Given the description of an element on the screen output the (x, y) to click on. 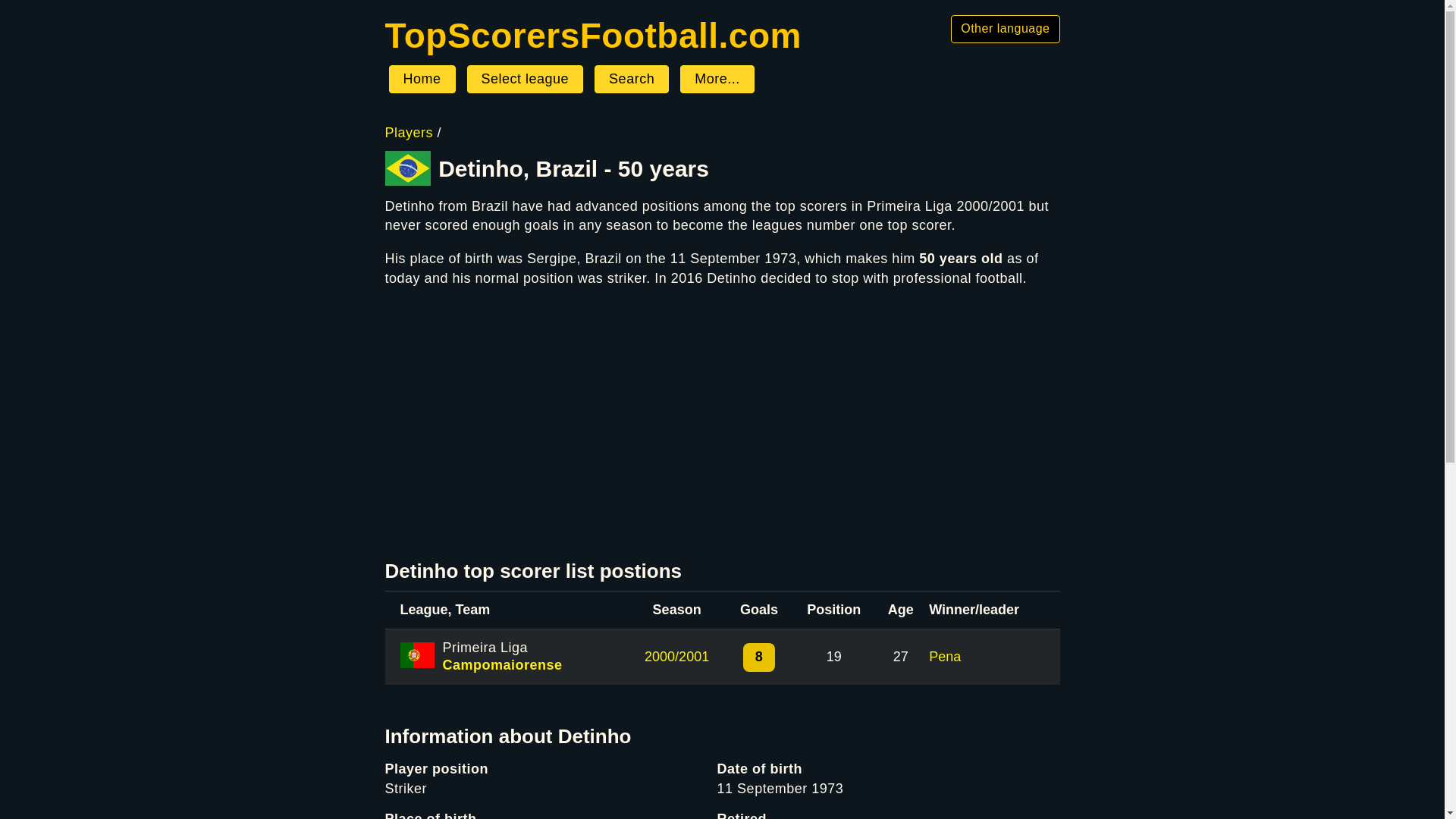
Home (421, 79)
Other language (1004, 29)
Search (631, 79)
Other language (1004, 29)
TopScorersFootball.com (593, 35)
Home (421, 79)
Home (593, 35)
More... (716, 79)
Select league (525, 79)
